Given the description of an element on the screen output the (x, y) to click on. 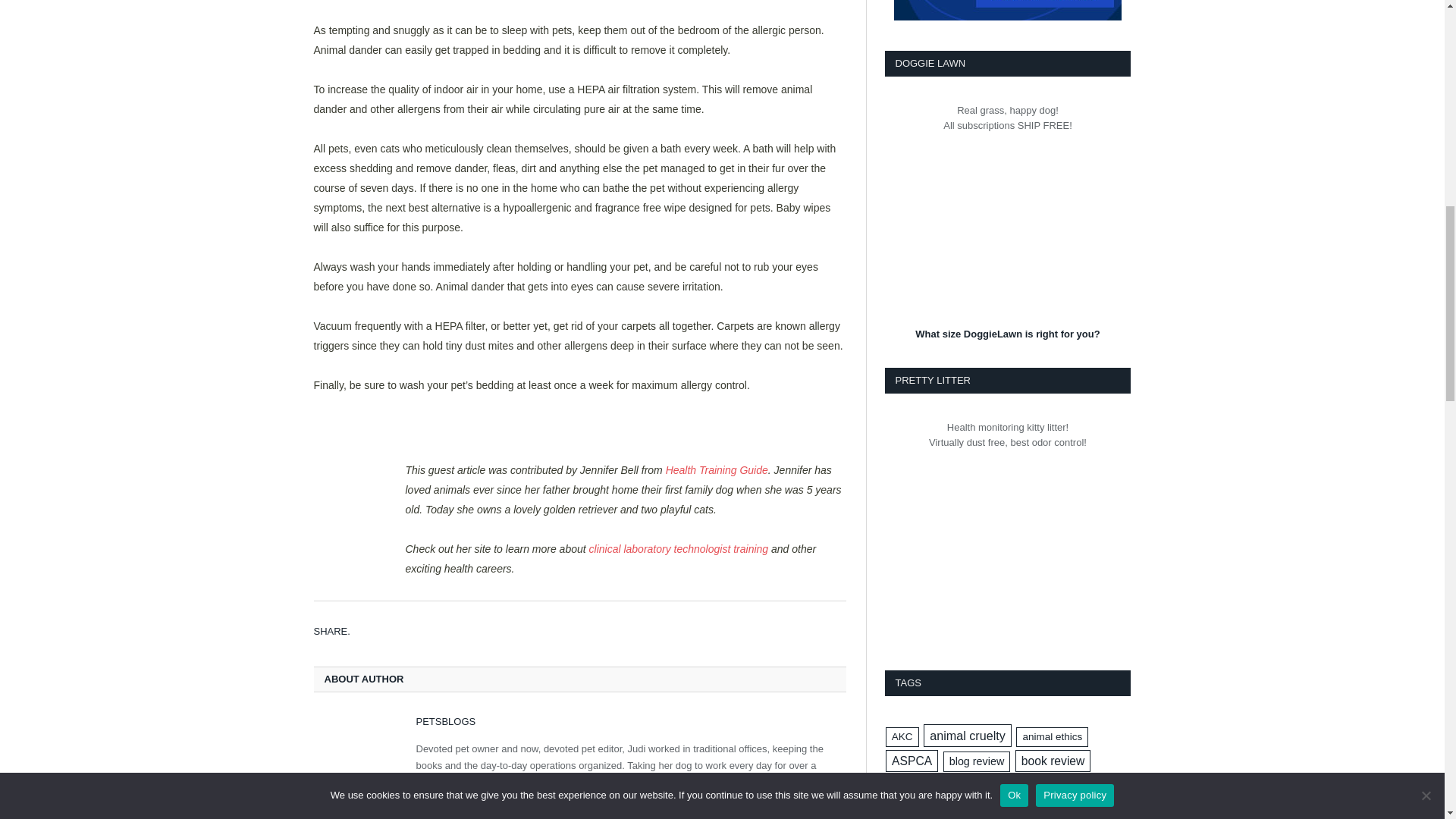
PETSBLOGS (445, 721)
Health Training Guide (716, 469)
clinical laboratory technologist training (678, 548)
